Given the description of an element on the screen output the (x, y) to click on. 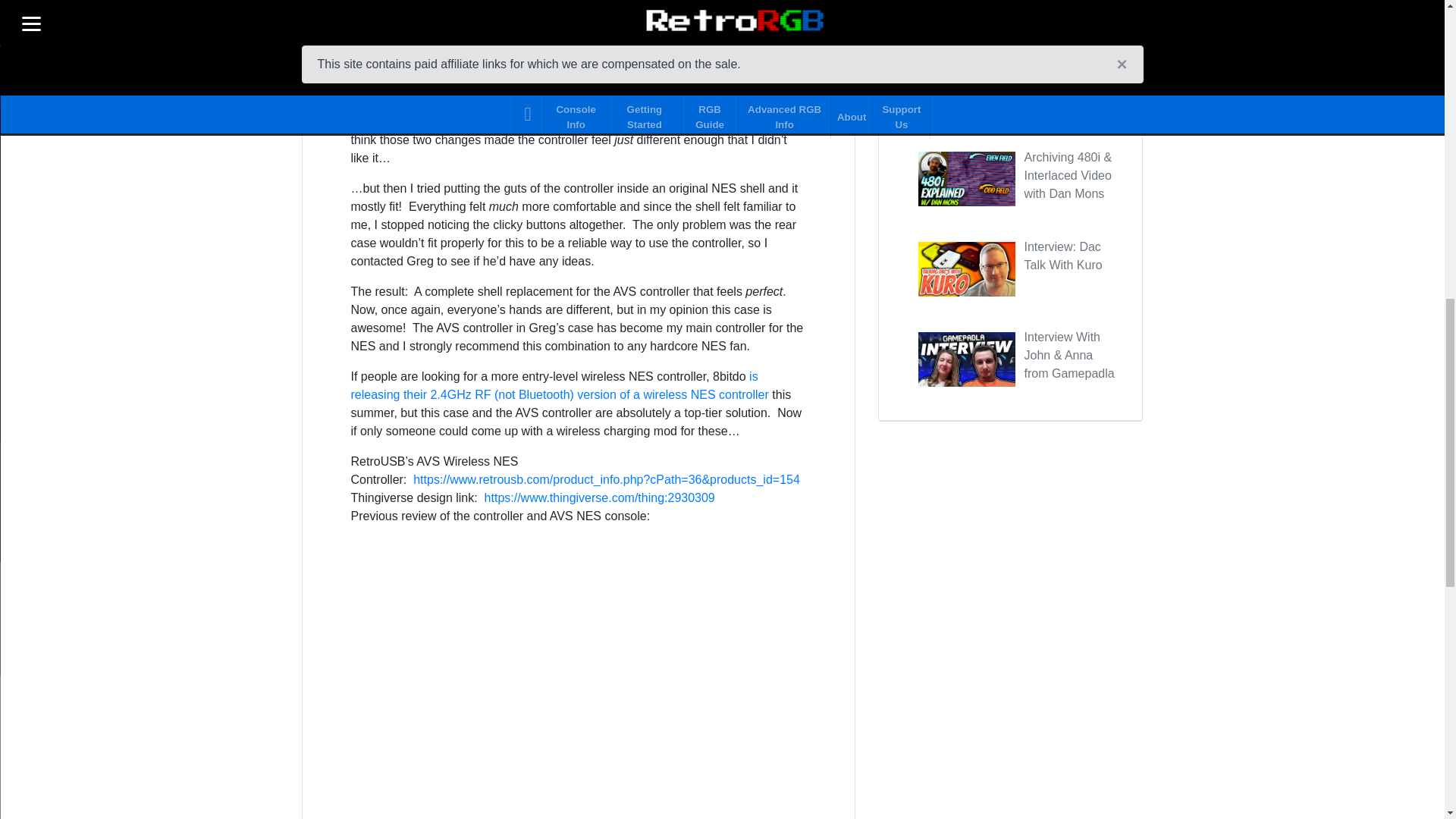
reviewed the controller a few years ago (511, 54)
RetroUSB Wireless Controller Review (577, 665)
the AVS FPGA NES console (573, 3)
Interview: Dac Talk With Kuro (1062, 255)
